Given the description of an element on the screen output the (x, y) to click on. 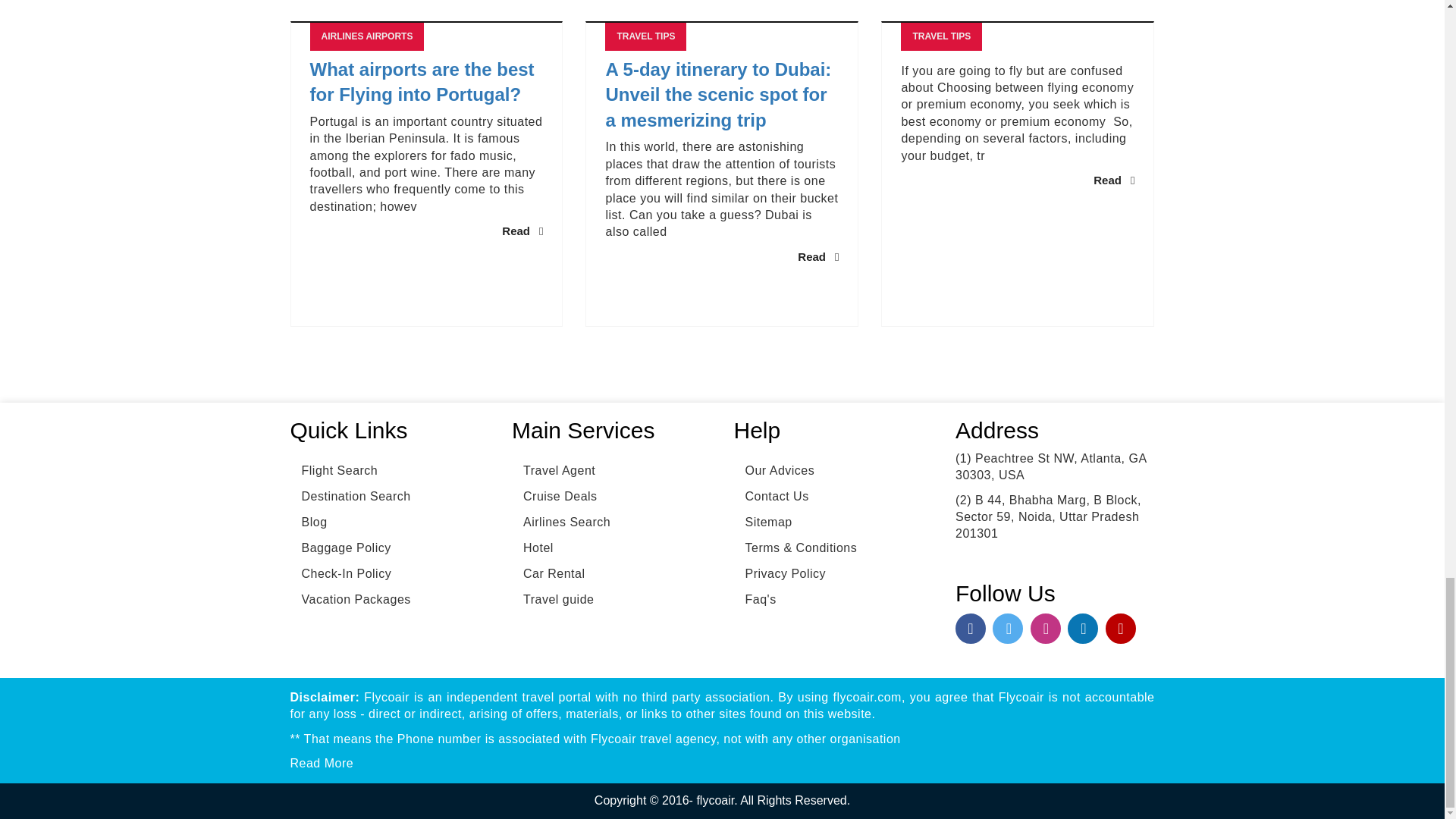
Read (522, 230)
Flight Search (333, 470)
What airports are the best for Flying into Portugal? (425, 81)
Blog (307, 522)
Read (817, 256)
Read (1113, 179)
Destination Search (349, 496)
